Given the description of an element on the screen output the (x, y) to click on. 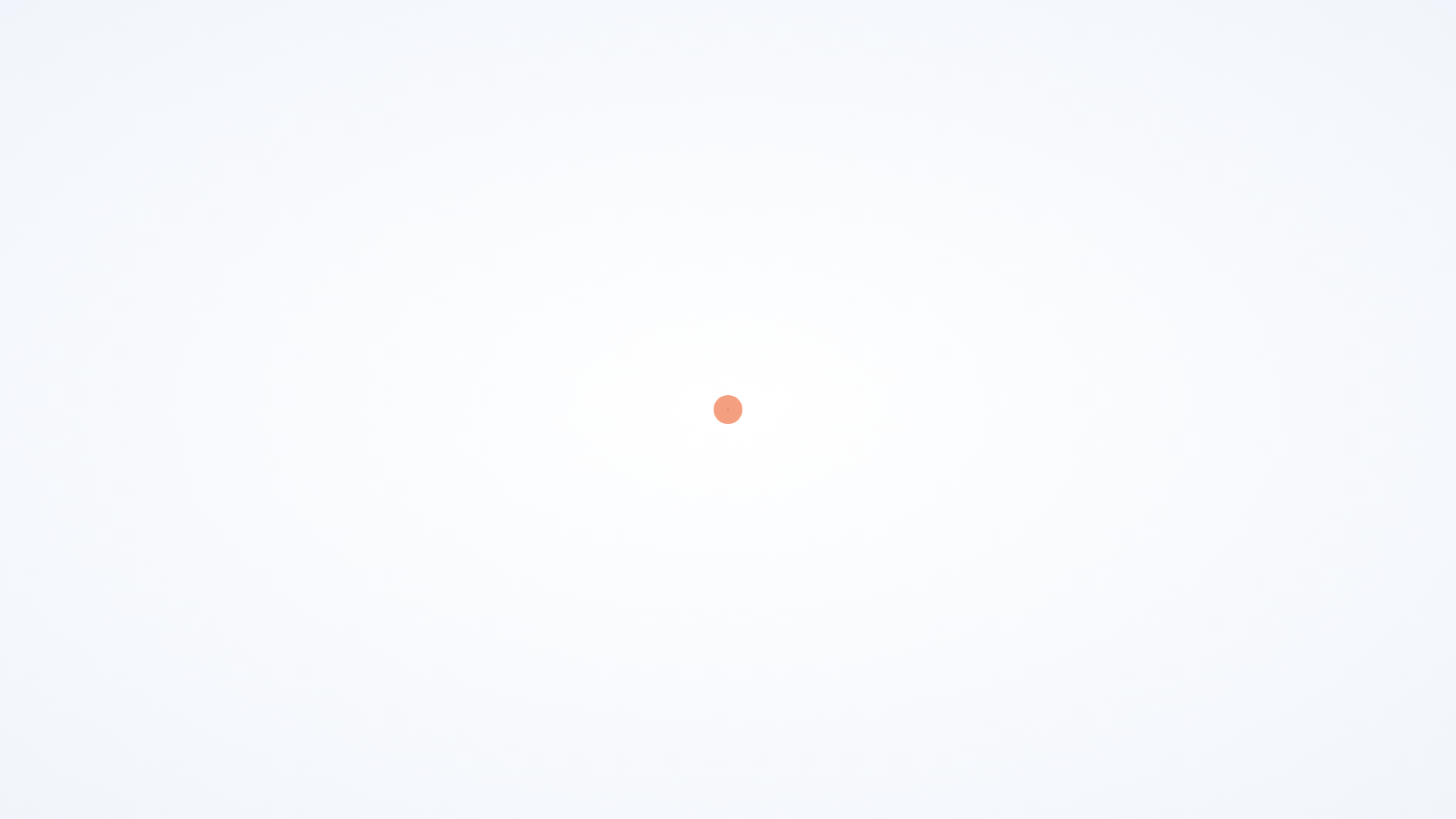
Turkish Jewelry (200, 146)
Copper and Brass (30, 427)
Home Decor (30, 286)
Oriental Carpets (30, 488)
Jewelry (30, 79)
Evil Eye (30, 205)
Apparel (30, 374)
Membership (1241, 32)
Lamps (30, 118)
Ceramics (30, 161)
